Given the description of an element on the screen output the (x, y) to click on. 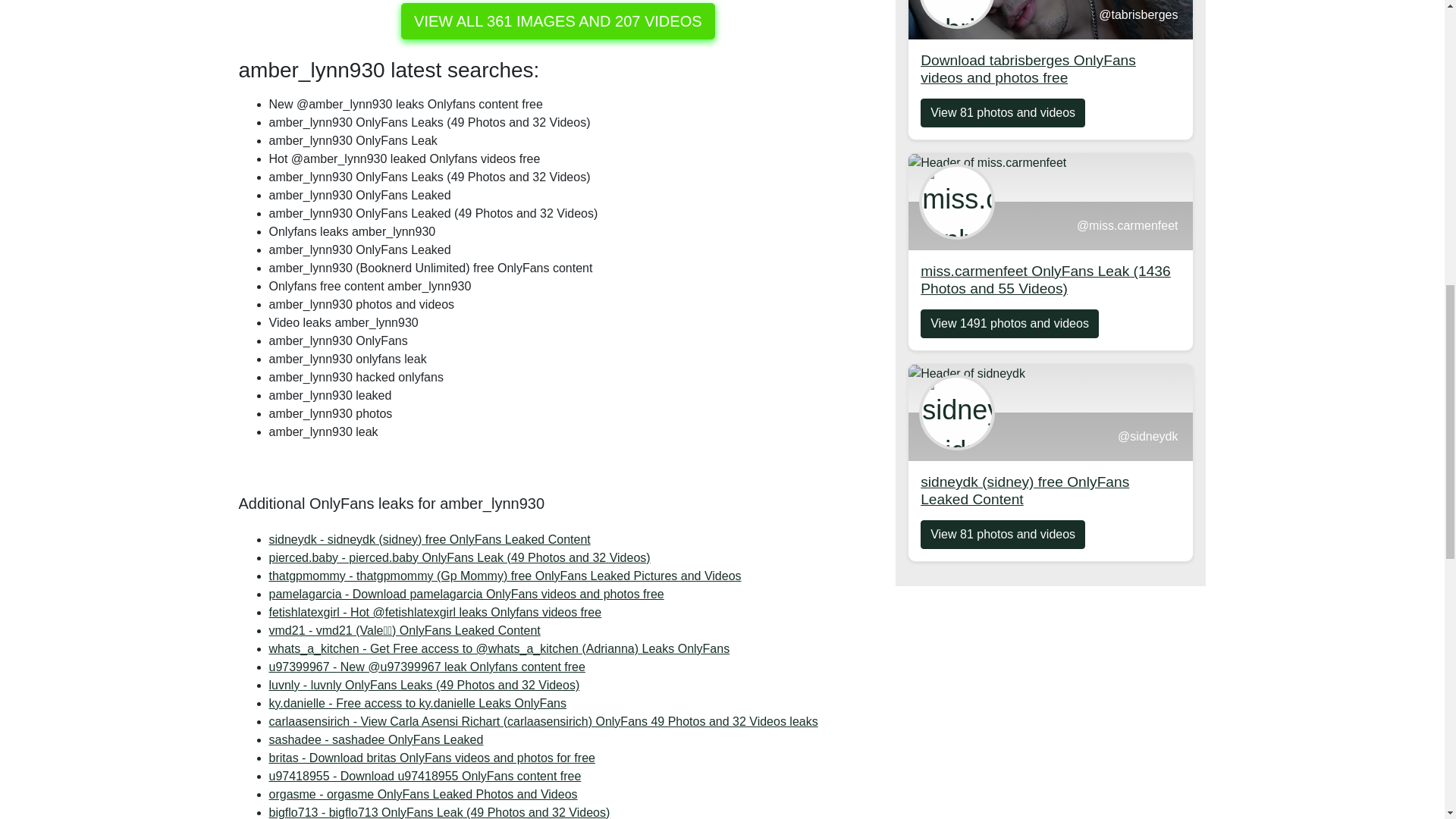
ky.danielle - Free access to ky.danielle Leaks OnlyFans (423, 775)
u97418955 - Download u97418955 OnlyFans content free (416, 703)
orgasme - orgasme OnlyFans Leaked Photos and Videos (421, 793)
britas - Download britas OnlyFans videos and photos for free (423, 775)
